Given the description of an element on the screen output the (x, y) to click on. 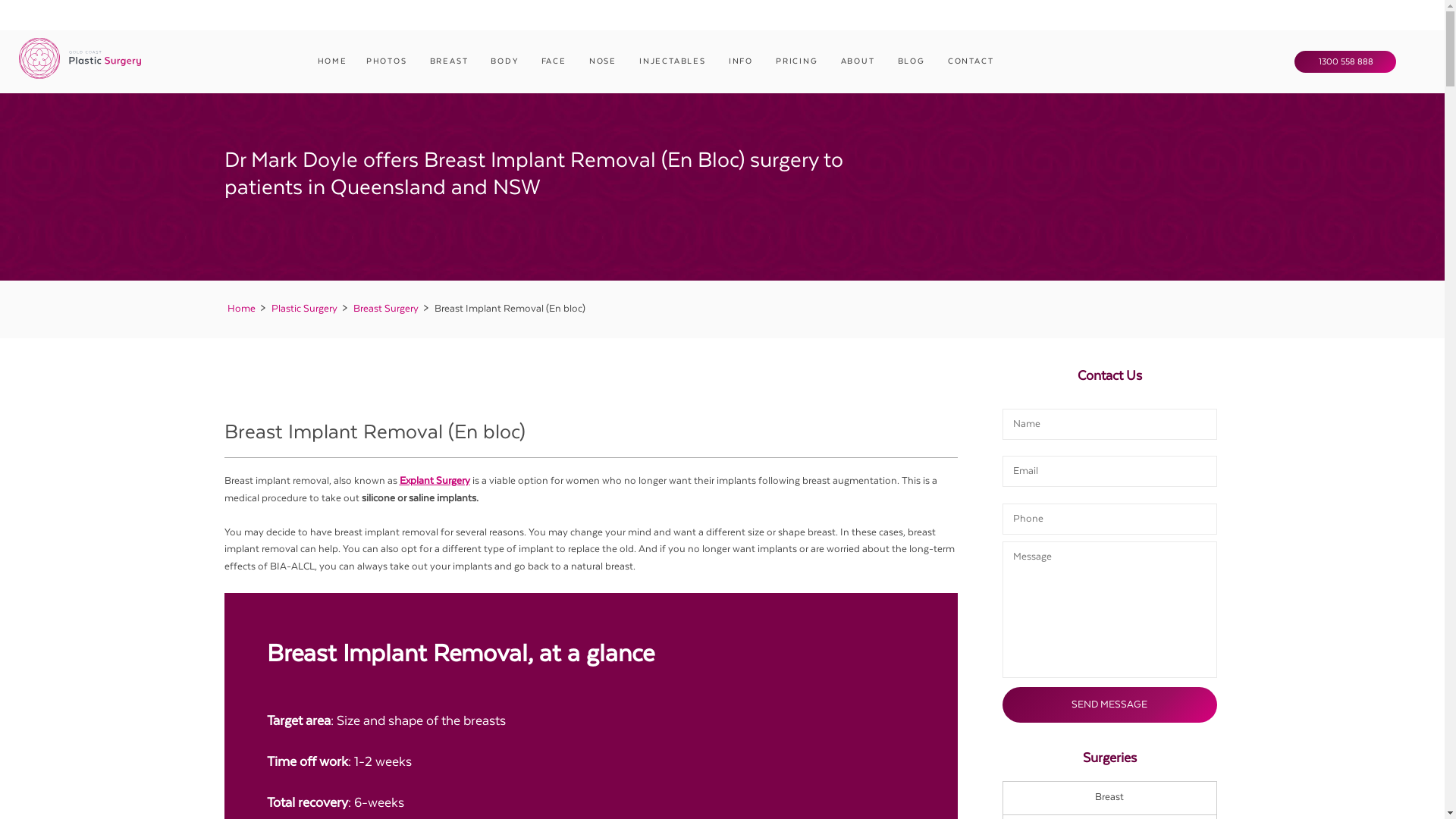
BODY Element type: text (506, 61)
BREAST Element type: text (450, 61)
HOME Element type: text (332, 61)
Breast Element type: text (1109, 797)
CONTACT Element type: text (972, 61)
NOSE Element type: text (604, 61)
Breast Surgery Element type: text (385, 308)
BLOG Element type: text (913, 61)
PRICING Element type: text (798, 61)
1300 558 888 Element type: text (1345, 61)
Home Element type: text (241, 308)
INJECTABLES Element type: text (674, 61)
Explant Surgery Element type: text (433, 480)
Send Message Element type: text (1109, 704)
PHOTOS Element type: text (388, 61)
Plastic Surgery Element type: text (304, 308)
FACE Element type: text (555, 61)
INFO Element type: text (742, 61)
ABOUT Element type: text (859, 61)
